Given the description of an element on the screen output the (x, y) to click on. 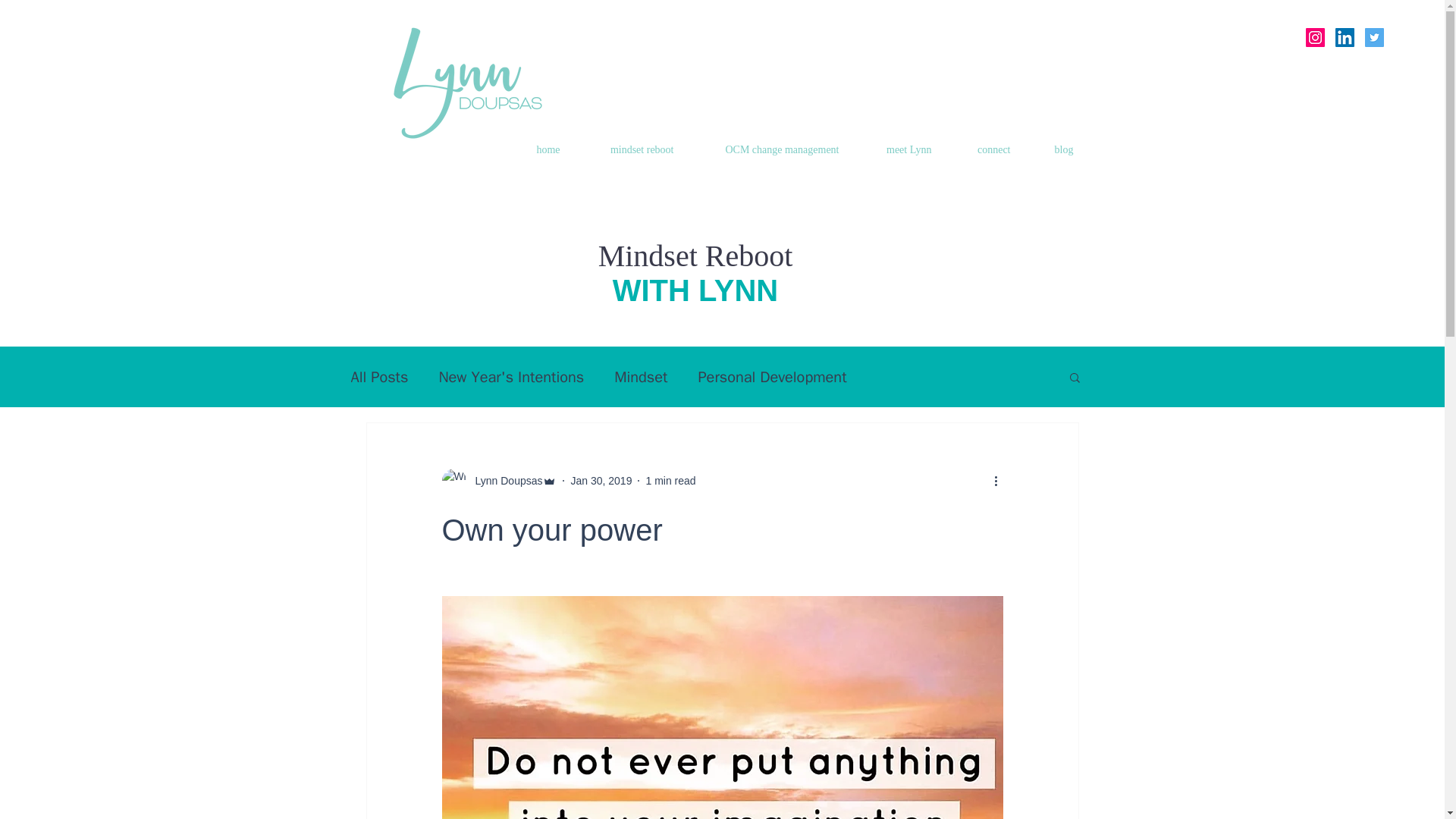
All Posts (378, 376)
connect (982, 149)
blog (1053, 149)
Personal Development (771, 376)
OCM change management (767, 149)
1 min read (670, 480)
mindset reboot (628, 149)
Mindset (640, 376)
meet Lynn (896, 149)
Lynn Doupsas (503, 480)
Jan 30, 2019 (600, 480)
home (536, 149)
New Year's Intentions (510, 376)
